Given the description of an element on the screen output the (x, y) to click on. 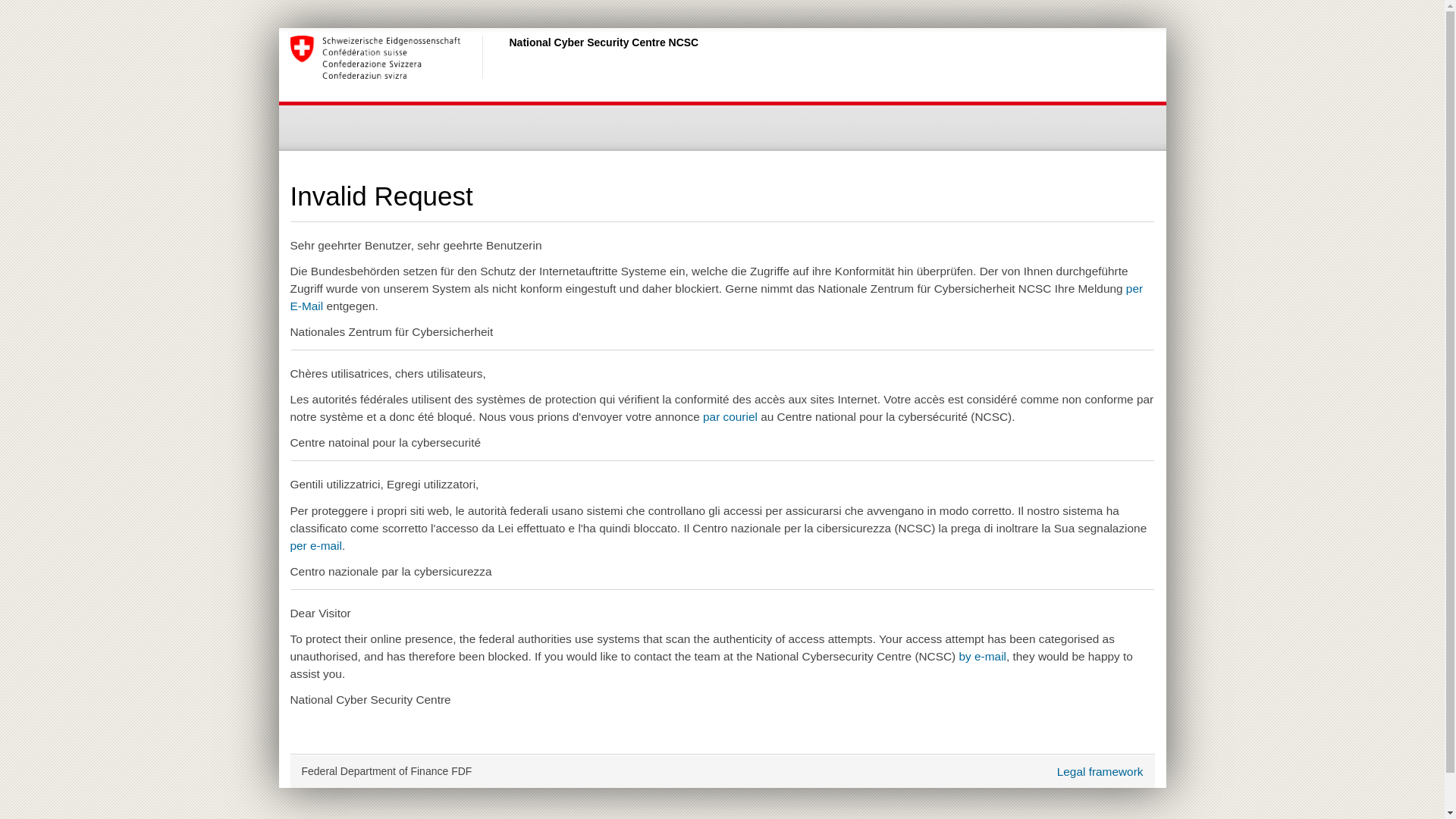
National Cyber Security Centre NCSC Element type: text (505, 56)
per e-mail Element type: text (315, 545)
per E-Mail Element type: text (715, 297)
by e-mail Element type: text (982, 655)
par couriel Element type: text (729, 416)
Legal framework Element type: text (1100, 771)
